Given the description of an element on the screen output the (x, y) to click on. 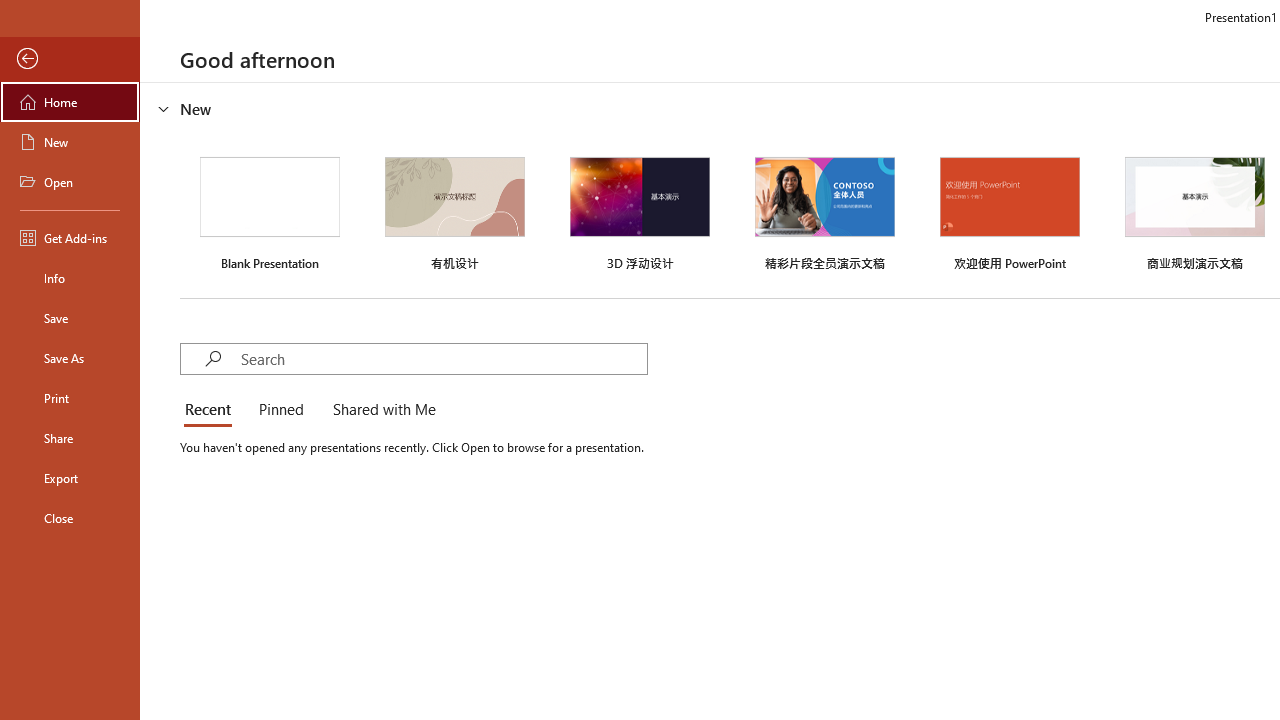
Shared with Me (379, 410)
Print (69, 398)
Hide or show region (164, 108)
Get Add-ins (69, 237)
New (69, 141)
Pinned (280, 410)
Info (69, 277)
